Given the description of an element on the screen output the (x, y) to click on. 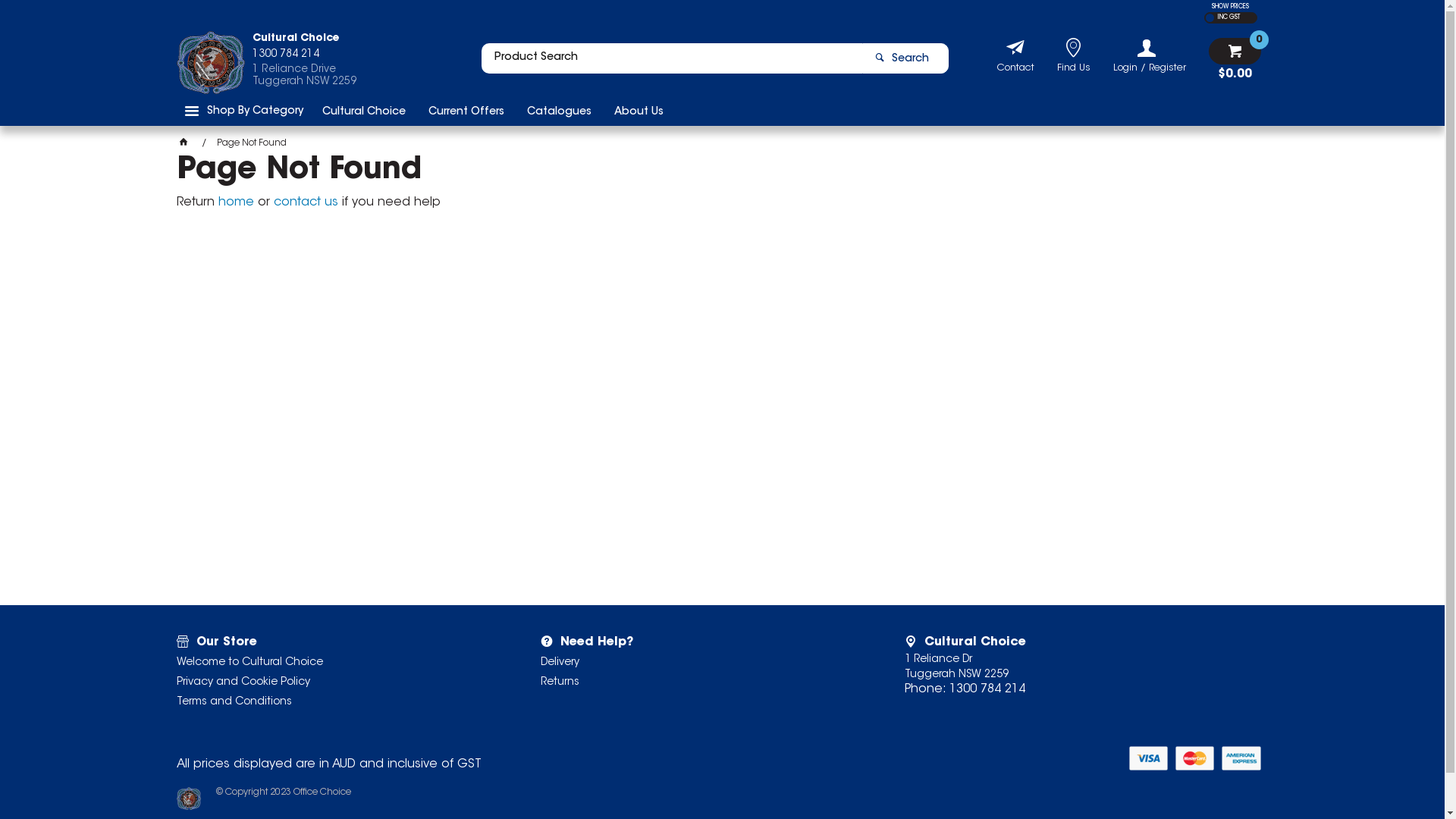
Cultural Choice Element type: text (363, 110)
Find Us Element type: text (1073, 69)
Current Offers Element type: text (466, 110)
Delivery Element type: text (701, 662)
Welcome to Cultural Choice Element type: text (337, 662)
home Element type: text (236, 202)
EX GST Element type: text (1209, 17)
Privacy and Cookie Policy Element type: text (337, 682)
About Us Element type: text (638, 110)
INC GST Element type: text (1226, 17)
Catalogues Element type: text (558, 110)
contact us Element type: text (305, 202)
$0.00
0 Element type: text (1234, 59)
Contact Element type: text (1014, 69)
Login / Register Element type: text (1149, 55)
1300 784 214 Element type: text (303, 57)
1300 784 214 Element type: text (987, 689)
Terms and Conditions Element type: text (337, 702)
Search Element type: text (904, 58)
Returns Element type: text (701, 682)
